Given the description of an element on the screen output the (x, y) to click on. 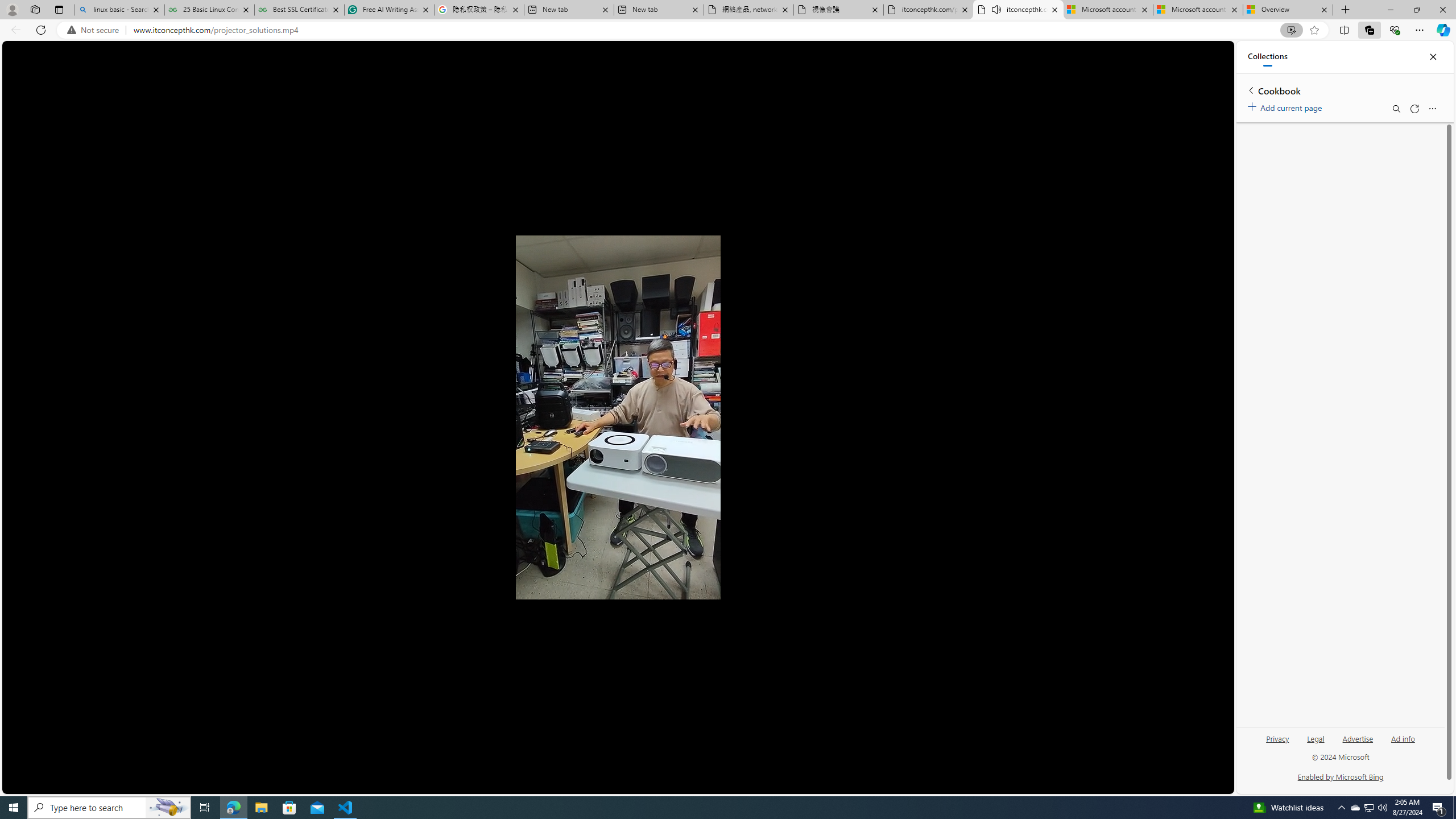
Overview (1287, 9)
25 Basic Linux Commands For Beginners - GeeksforGeeks (209, 9)
itconcepthk.com/projector_solutions.mp4 (928, 9)
linux basic - Search (118, 9)
Add current page (1286, 105)
Best SSL Certificates Provider in India - GeeksforGeeks (298, 9)
